Given the description of an element on the screen output the (x, y) to click on. 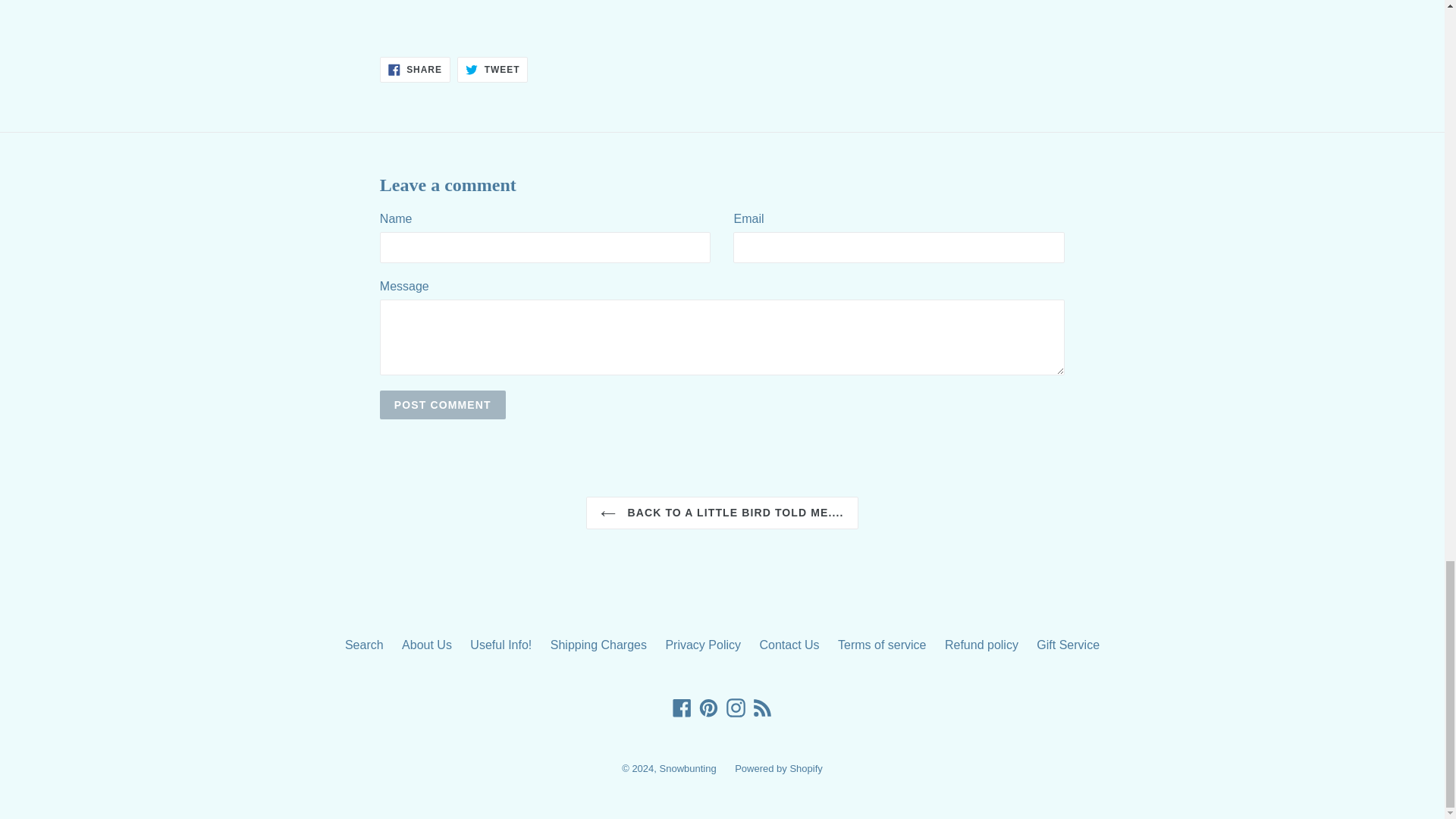
Snowbunting on Pinterest (708, 707)
Snowbunting on Instagram (735, 707)
Share on Facebook (414, 69)
Post comment (442, 405)
Snowbunting on Facebook (681, 707)
Tweet on Twitter (492, 69)
